Given the description of an element on the screen output the (x, y) to click on. 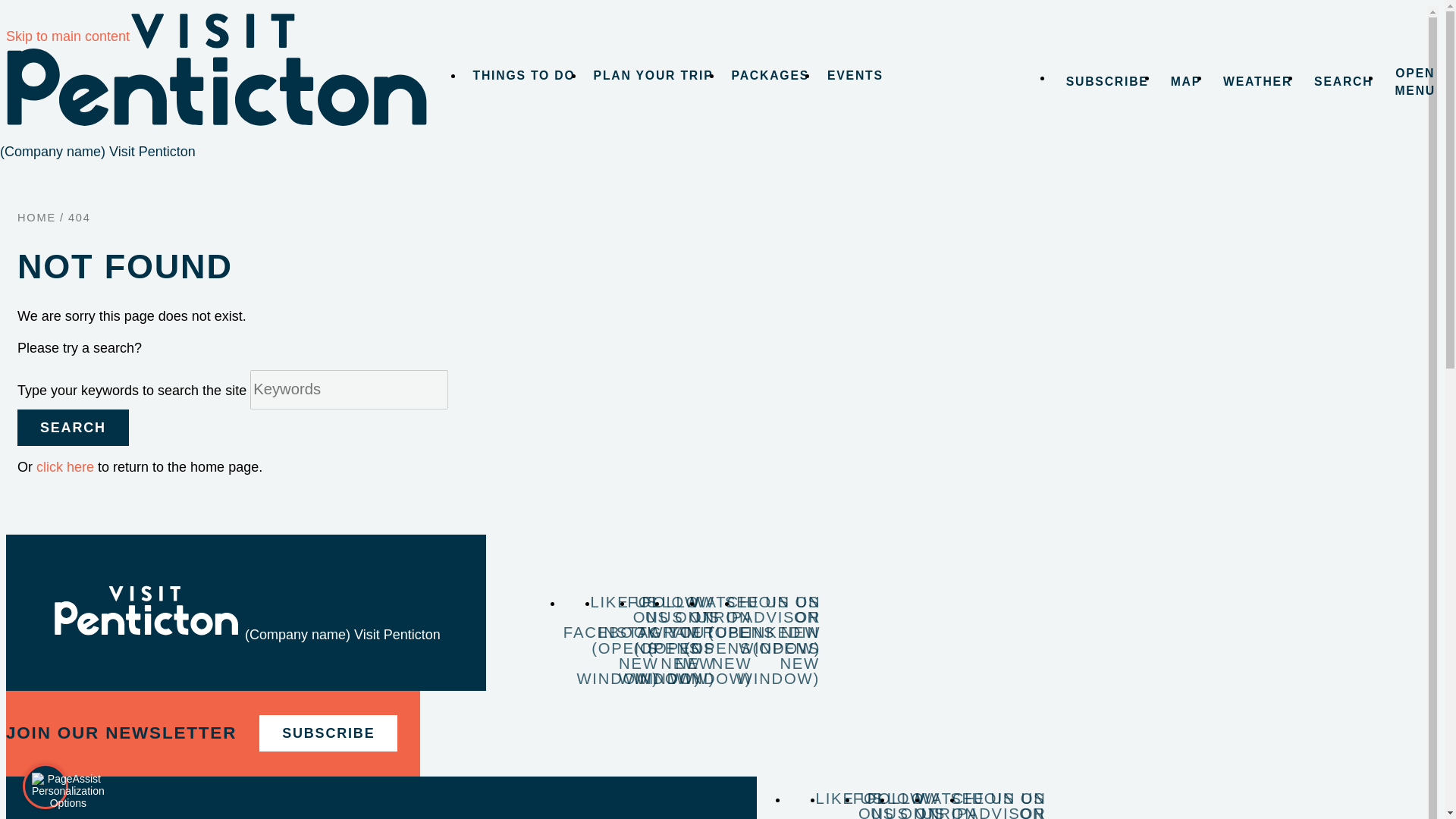
Search (73, 427)
WEATHER (1255, 81)
EVENTS (855, 74)
Skip to main content (67, 36)
PLAN YOUR TRIP (653, 74)
THINGS TO DO (524, 74)
PACKAGES (770, 74)
MAP (1183, 81)
SEARCH (1341, 81)
SUBSCRIBE (1104, 81)
Go to Visit Penticton. (36, 217)
